Given the description of an element on the screen output the (x, y) to click on. 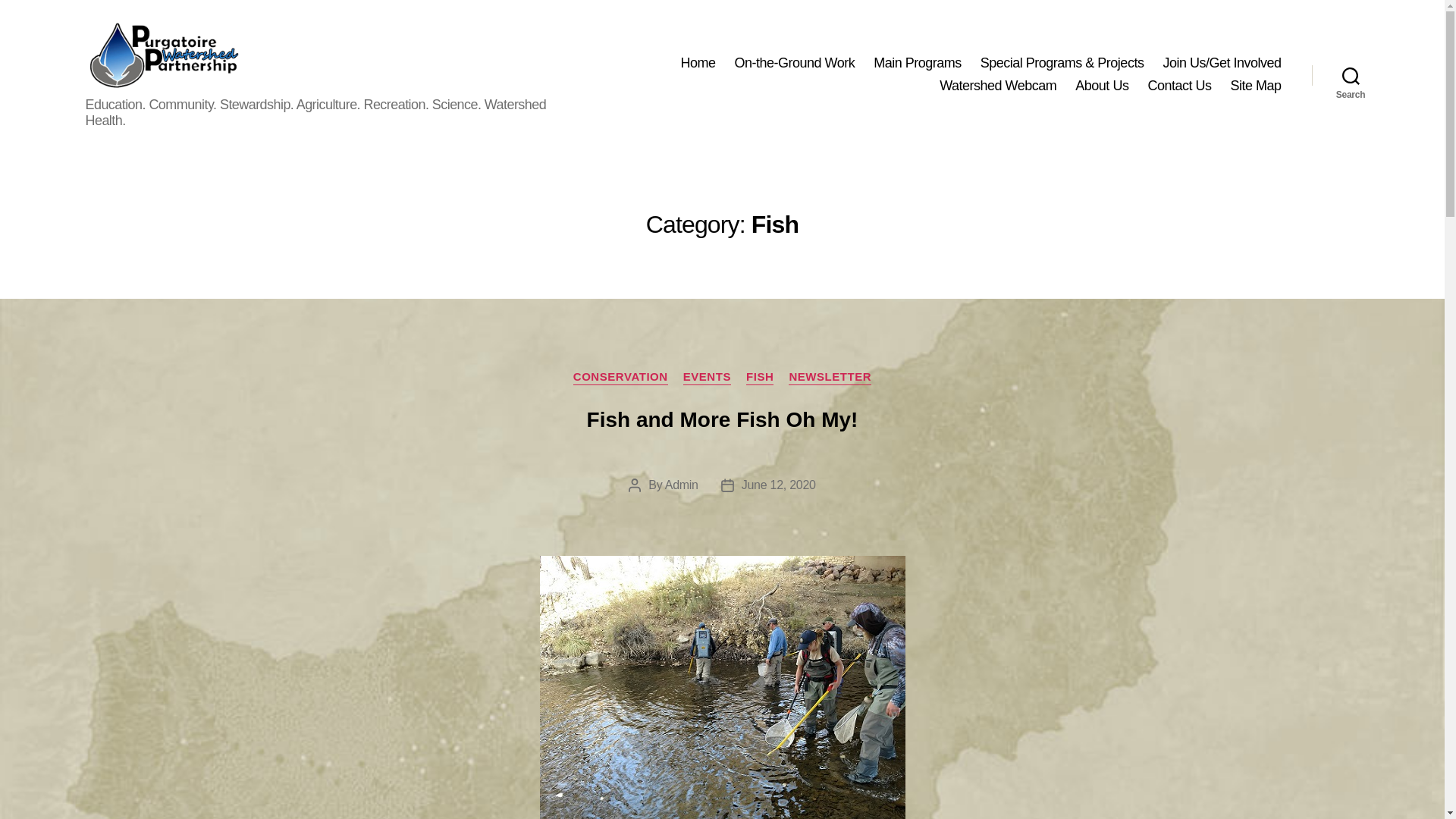
Contact Us (1179, 86)
Main Programs (916, 63)
About Us (1101, 86)
NEWSLETTER (829, 377)
EVENTS (706, 377)
June 12, 2020 (778, 484)
Search (1350, 74)
Site Map (1255, 86)
FISH (759, 377)
CONSERVATION (620, 377)
On-the-Ground Work (793, 63)
Fish and More Fish Oh My! (722, 419)
Admin (681, 484)
Home (696, 63)
Watershed Webcam (998, 86)
